Given the description of an element on the screen output the (x, y) to click on. 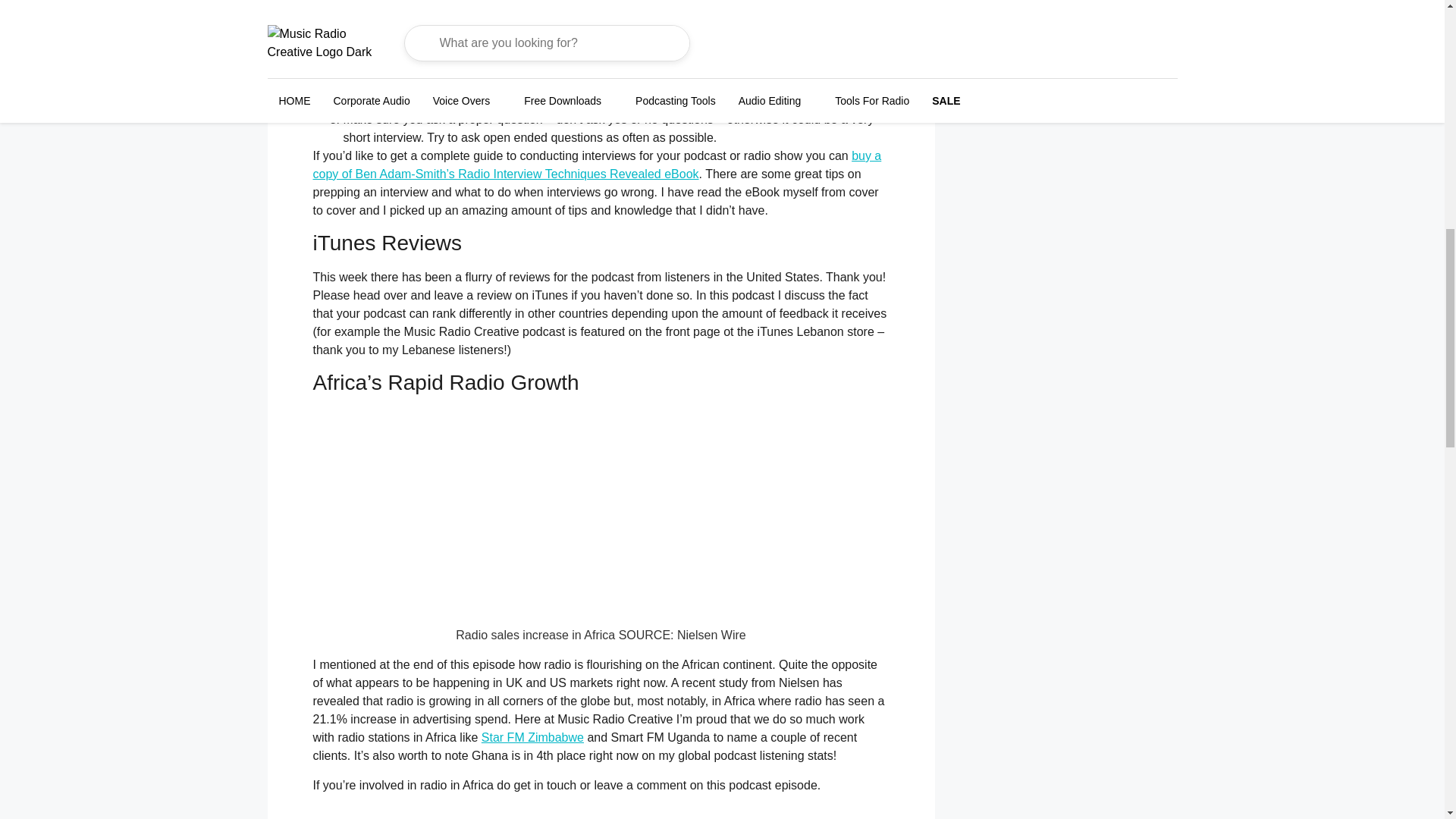
Star FM Zimbabwe (532, 737)
